Given the description of an element on the screen output the (x, y) to click on. 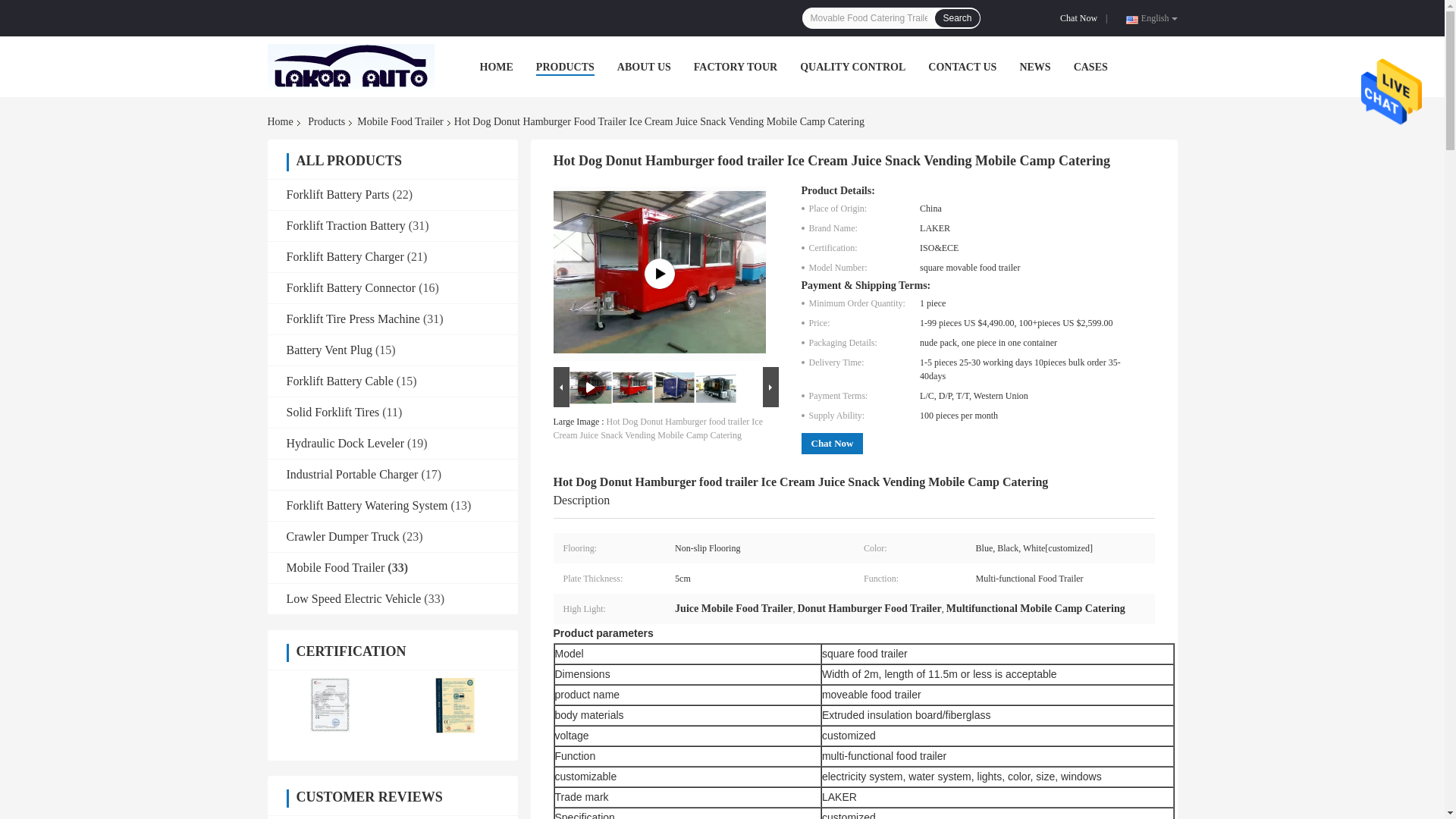
Quote (1081, 18)
LAKER AUTOPARTS CO.,LIMITED (349, 66)
ABOUT US (644, 66)
NEWS (1034, 66)
Mobile Food Trailer (399, 121)
Forklift Traction Battery (346, 225)
Chat Now (1081, 18)
Forklift Battery Connector (351, 287)
QUALITY CONTROL (852, 66)
Forklift Battery Charger (345, 256)
Forklift Battery Cable (339, 380)
CASES (1091, 66)
Battery Vent Plug (329, 349)
Forklift Tire Press Machine (353, 318)
FACTORY TOUR (735, 66)
